Given the description of an element on the screen output the (x, y) to click on. 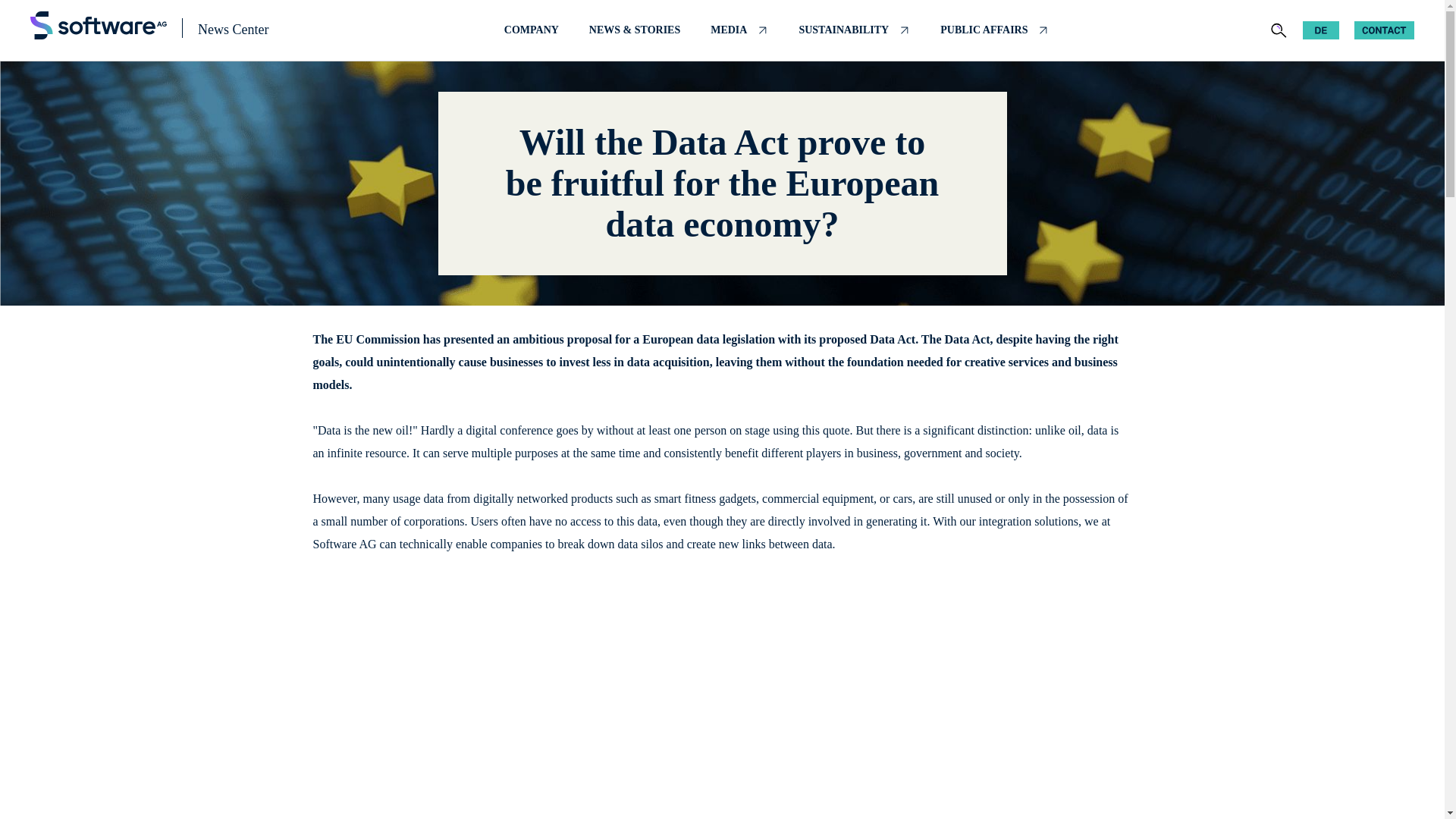
Contact Us (1383, 30)
PUBLIC AFFAIRS (994, 30)
Open (1278, 30)
Software AG News Center (98, 25)
Software AG News Center (98, 25)
German version (1321, 30)
Contact Us (1383, 31)
German Version (1321, 31)
News Center (232, 29)
MEDIA (739, 30)
SUSTAINABILITY (853, 30)
